Given the description of an element on the screen output the (x, y) to click on. 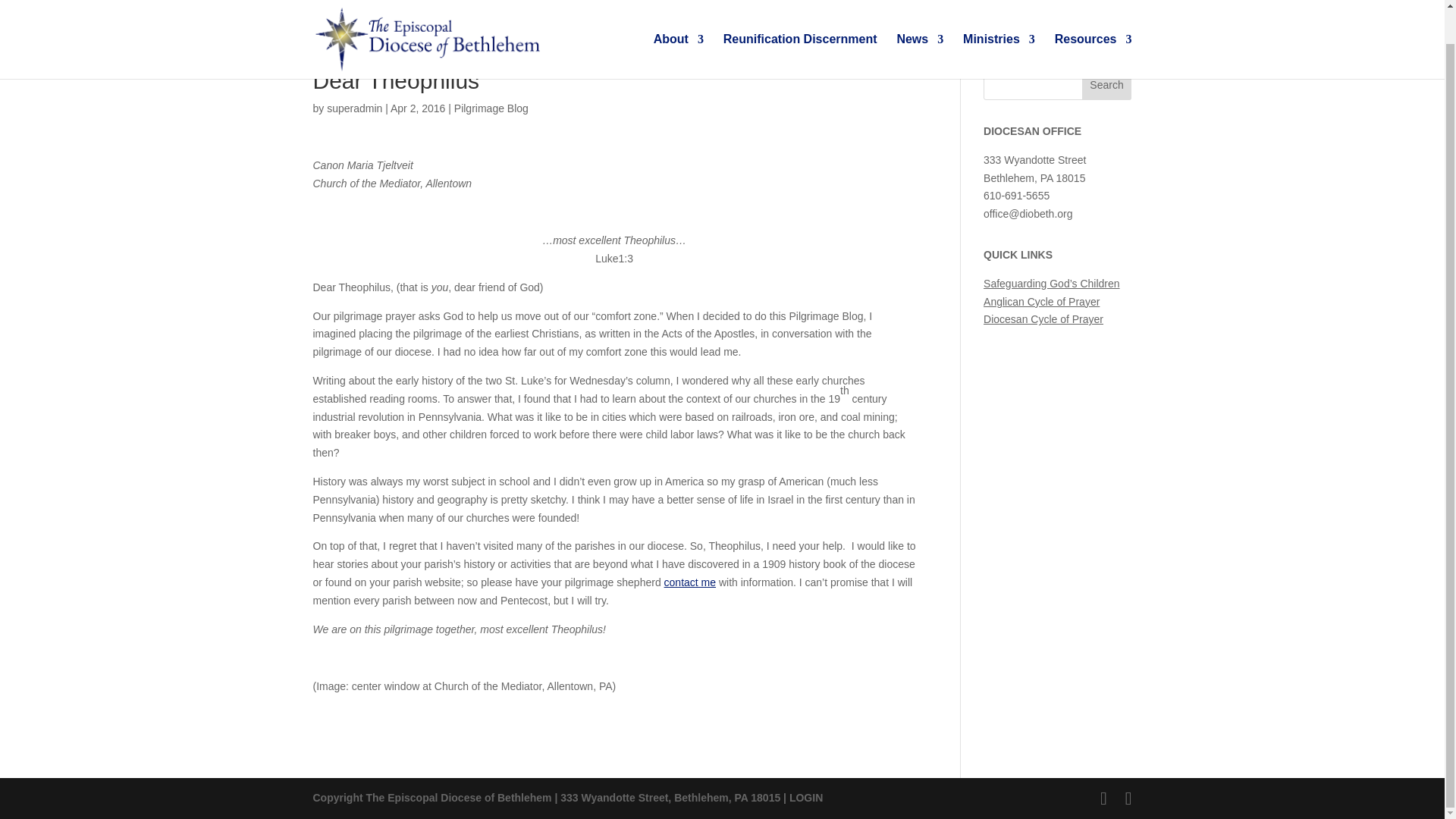
Anglican Cycle of Prayer (1041, 301)
Diocesan Cycle of Prayer (1043, 318)
superadmin (353, 108)
Search (1106, 84)
Posts by superadmin (353, 108)
Reunification Discernment (800, 22)
Search (1106, 84)
Ministries (998, 22)
About (678, 22)
LOGIN (805, 797)
